Given the description of an element on the screen output the (x, y) to click on. 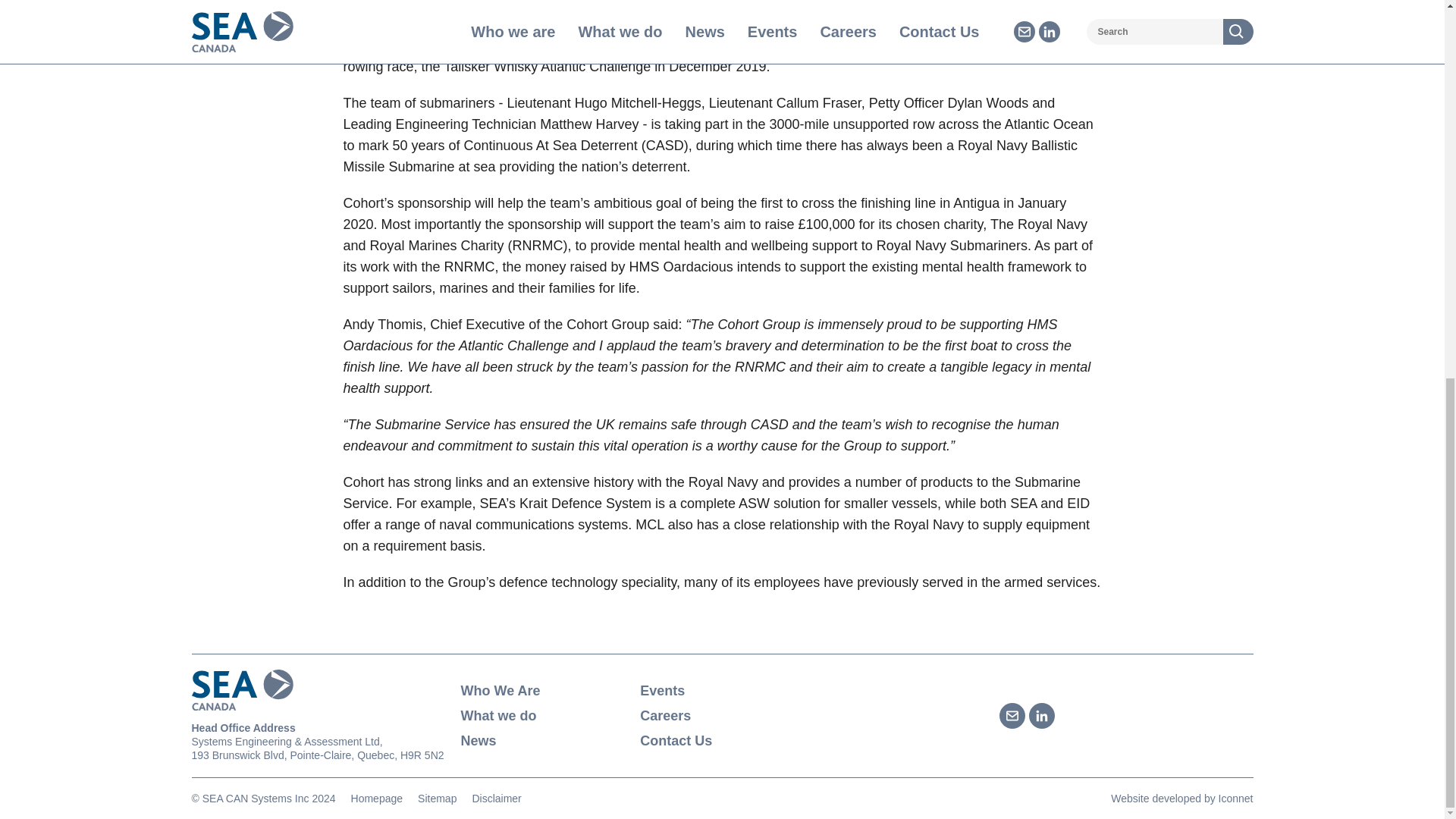
Contact Us (722, 740)
Events (722, 690)
Who We Are (543, 690)
What we do (543, 715)
Careers (722, 715)
News (543, 740)
